Given the description of an element on the screen output the (x, y) to click on. 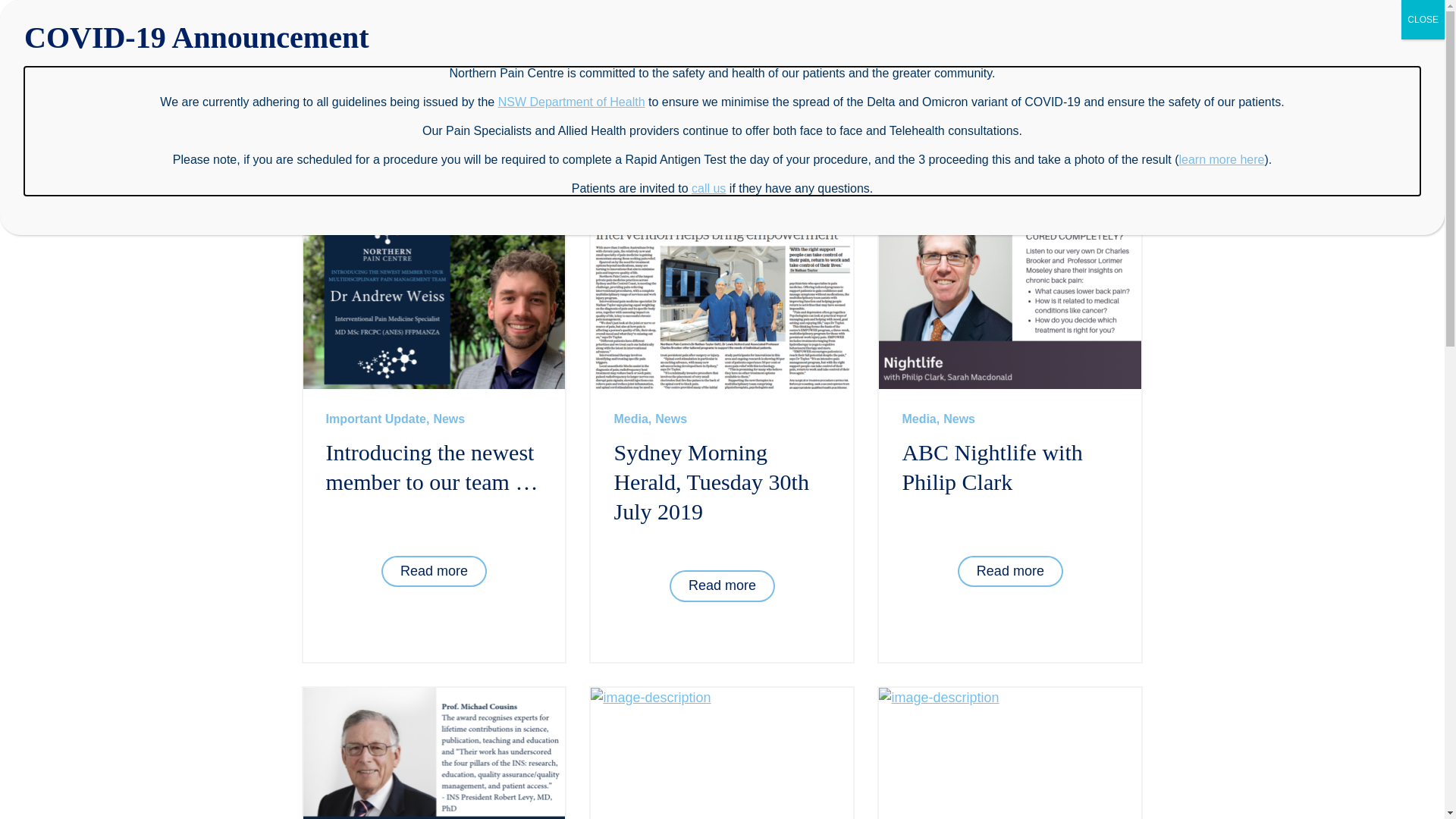
Read more Element type: text (1010, 571)
For Health Practitioners Element type: text (723, 124)
News Element type: text (448, 418)
Contact Element type: text (918, 45)
Interventional Treatments Element type: text (519, 124)
News Element type: text (671, 418)
News Element type: text (959, 418)
Important Update, Element type: text (377, 418)
NSW Department of Health Element type: text (571, 101)
Media, Element type: text (632, 418)
CLOSE Element type: text (1422, 19)
(02) 9439 6456 Element type: text (1065, 44)
Patient Resources Element type: text (620, 124)
learn more here Element type: text (1221, 159)
Pain Management Program Element type: text (825, 131)
About Us Element type: text (326, 116)
Search Element type: text (808, 45)
Read more Element type: text (722, 586)
Conditions We Treat Element type: text (416, 124)
Read more Element type: text (433, 571)
Sydney Morning Herald, Tuesday 30th July 2019 Element type: text (711, 481)
Locations Element type: text (1121, 116)
call us Element type: text (708, 188)
Media, Element type: text (920, 418)
Workers Compensation Element type: text (930, 124)
Before You Visit Element type: text (1029, 124)
ABC Nightlife with Philip Clark Element type: text (991, 466)
